Given the description of an element on the screen output the (x, y) to click on. 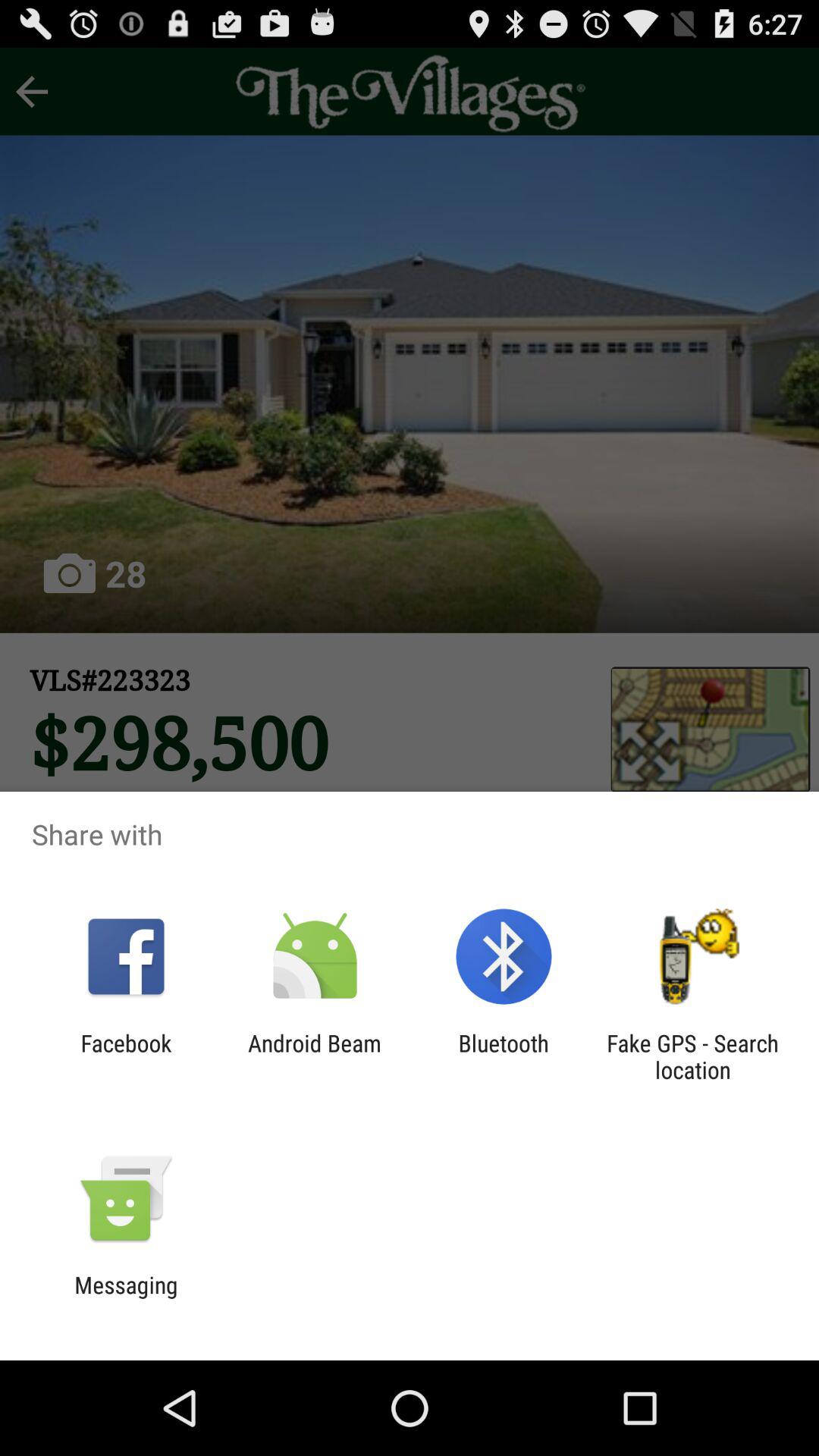
choose the messaging icon (126, 1298)
